Given the description of an element on the screen output the (x, y) to click on. 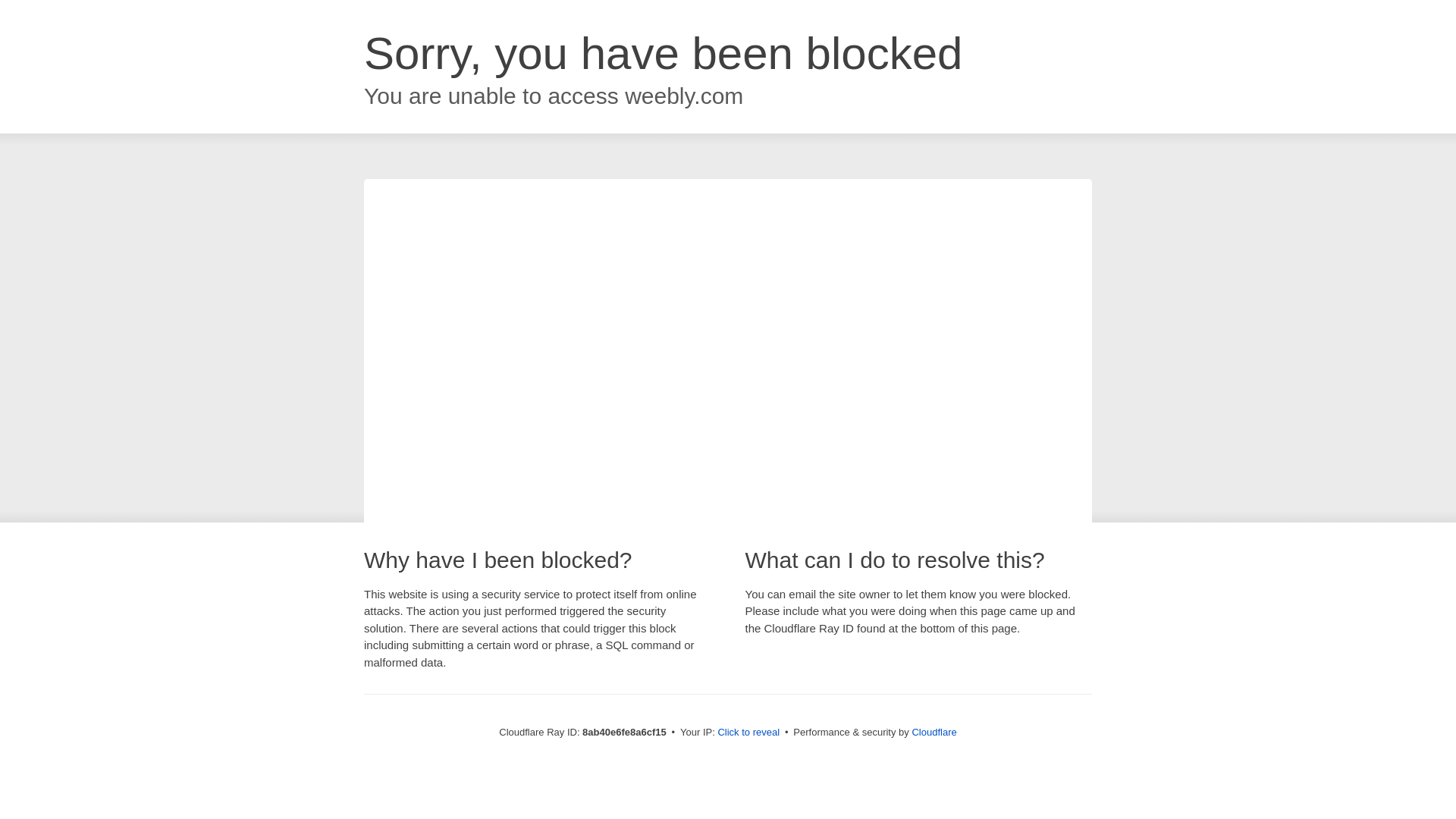
Cloudflare (933, 731)
Click to reveal (747, 732)
